Given the description of an element on the screen output the (x, y) to click on. 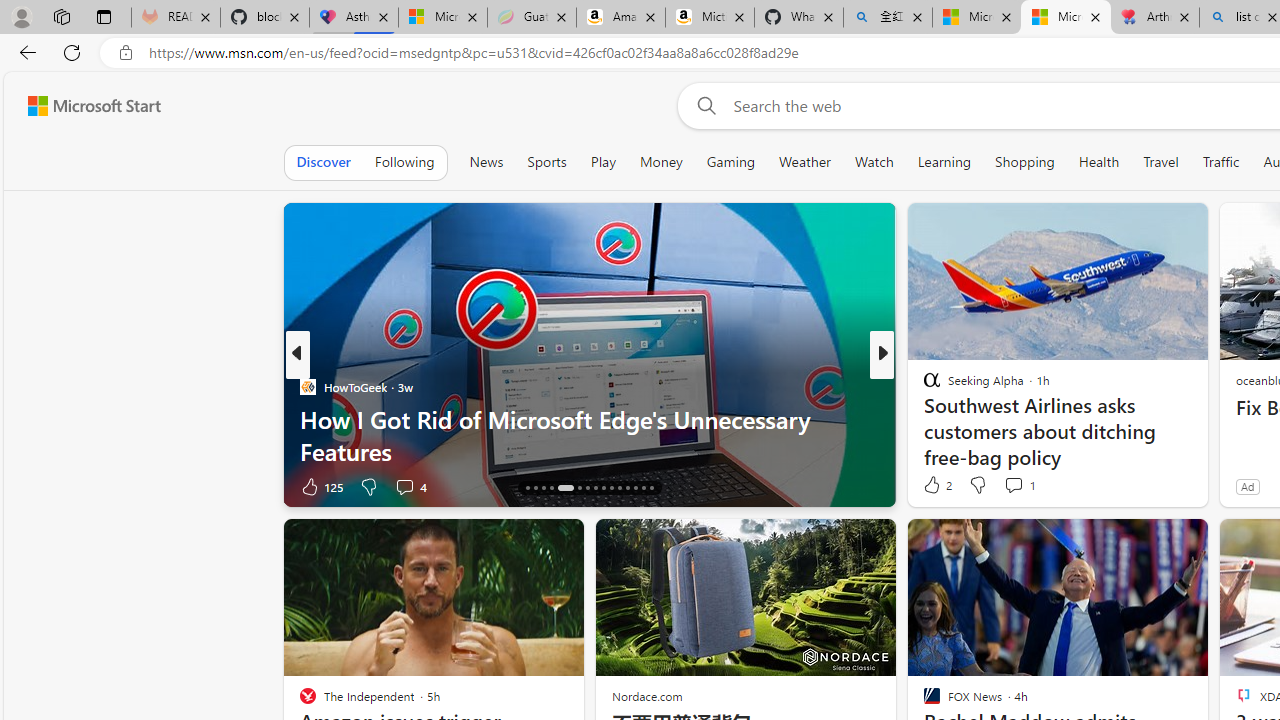
51 Like (934, 486)
View comments 4 Comment (410, 486)
AutomationID: tab-25 (610, 487)
16 Like (934, 486)
Inverse (923, 386)
